Given the description of an element on the screen output the (x, y) to click on. 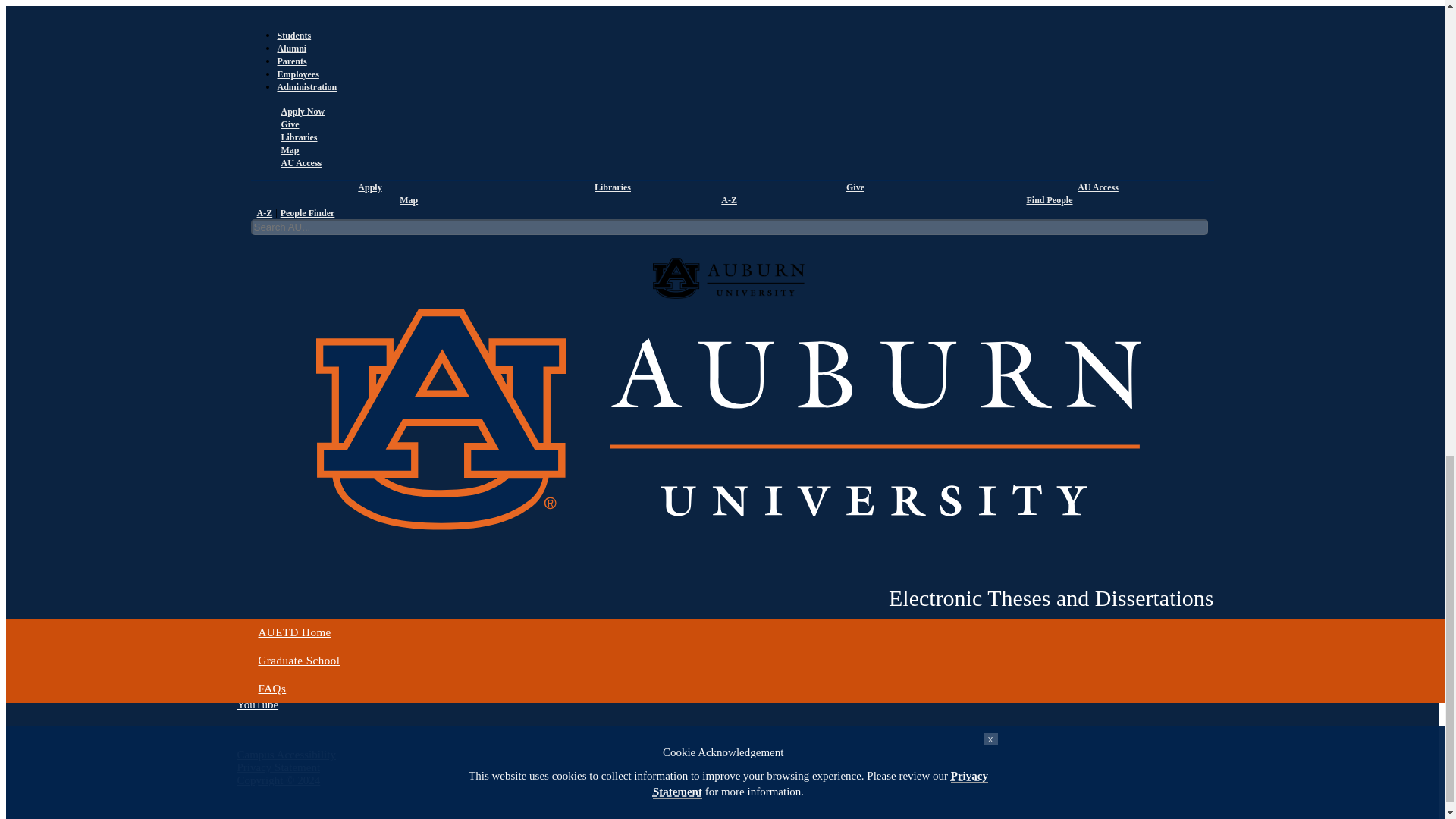
Auburn University Instagram (258, 691)
Auburn University Facebook page (258, 665)
Auburn University YouTube channel (256, 704)
Auburn University Twitter (252, 678)
